Given the description of an element on the screen output the (x, y) to click on. 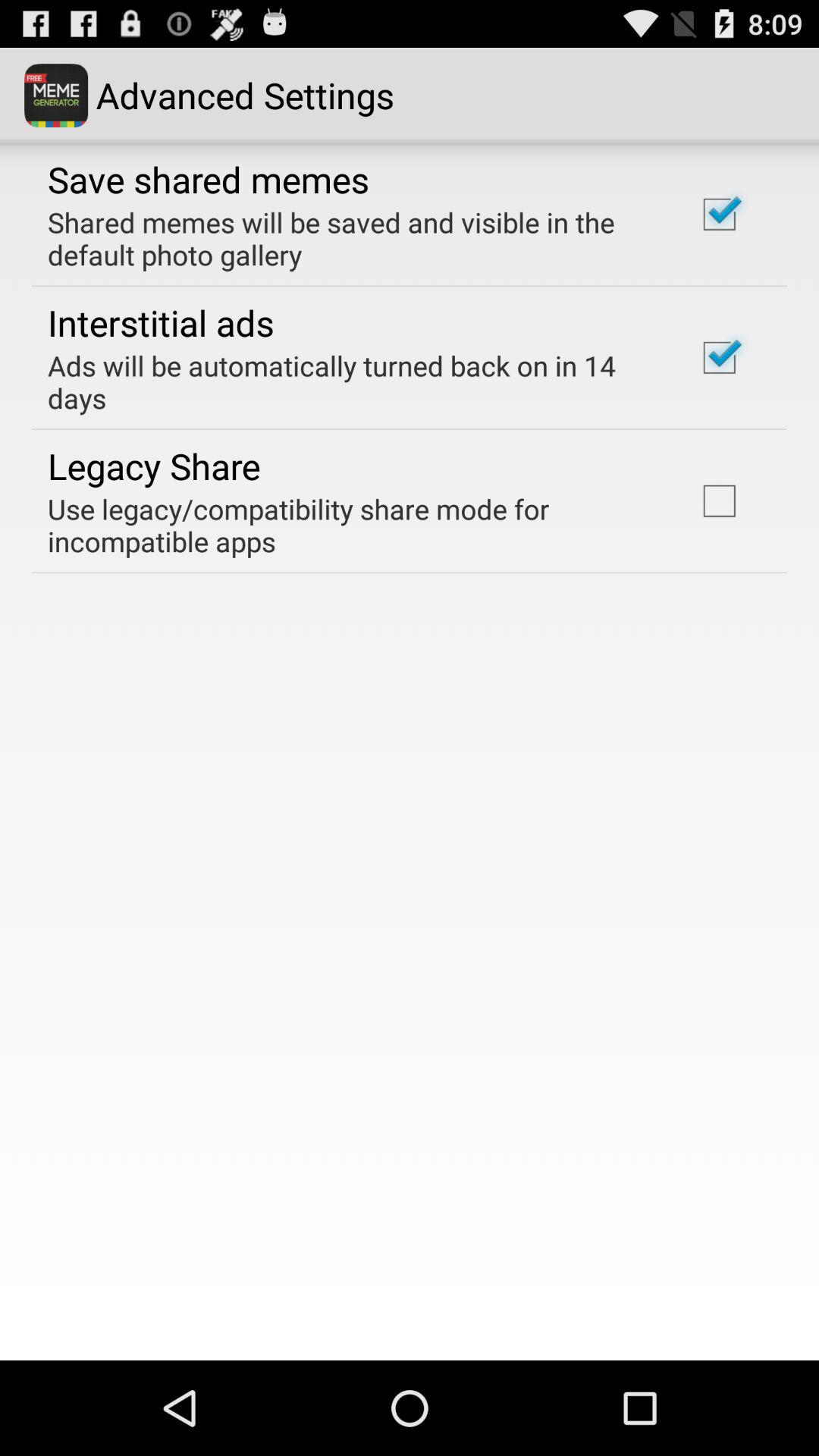
click icon above ads will be app (160, 322)
